Given the description of an element on the screen output the (x, y) to click on. 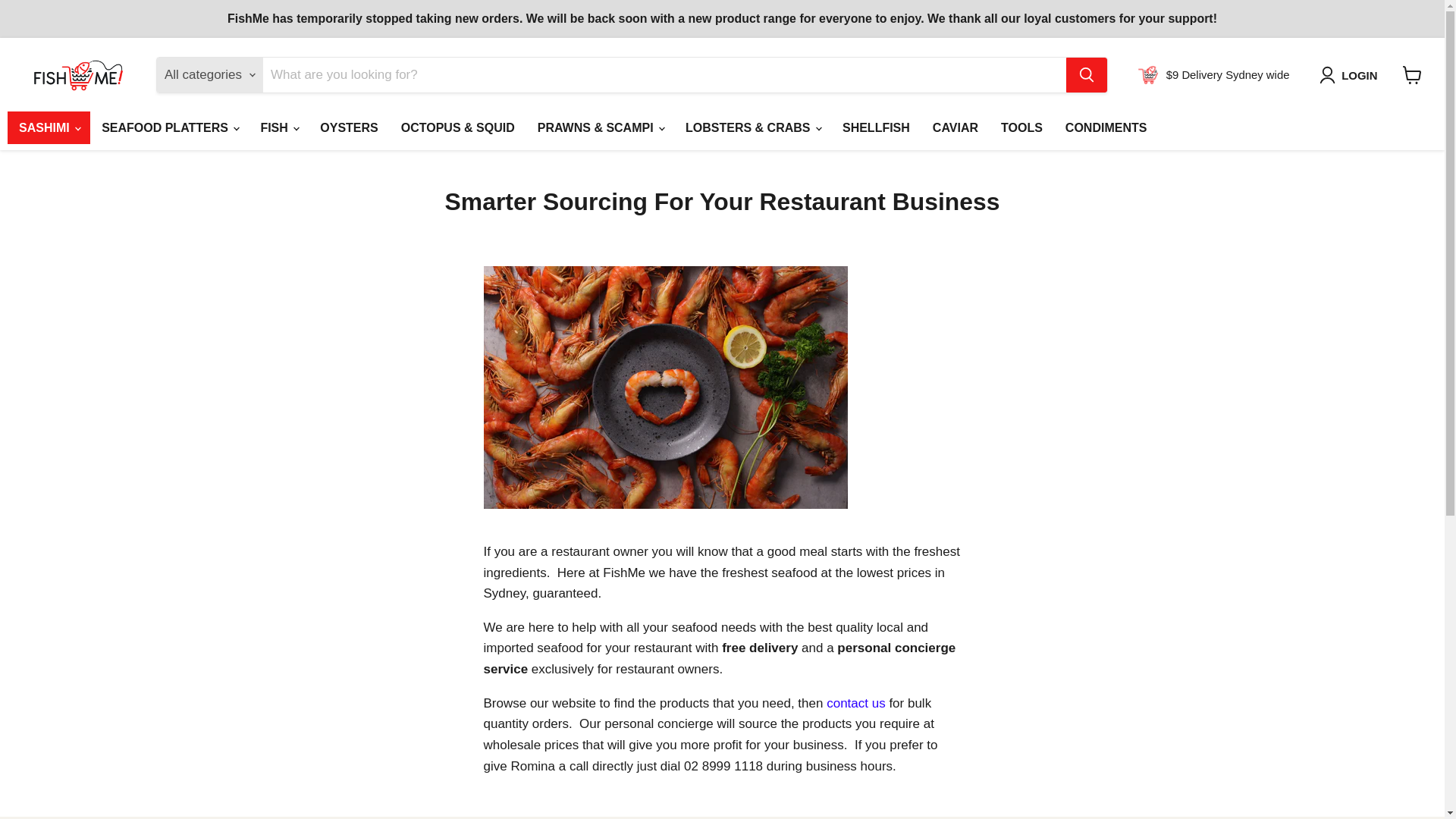
SEAFOOD PLATTERS (169, 127)
SHELLFISH (876, 127)
View cart (1411, 74)
CAVIAR (955, 127)
LOGIN (1359, 75)
TOOLS (1022, 127)
SASHIMI (48, 127)
OYSTERS (348, 127)
CONDIMENTS (1106, 127)
FISH (278, 127)
